Given the description of an element on the screen output the (x, y) to click on. 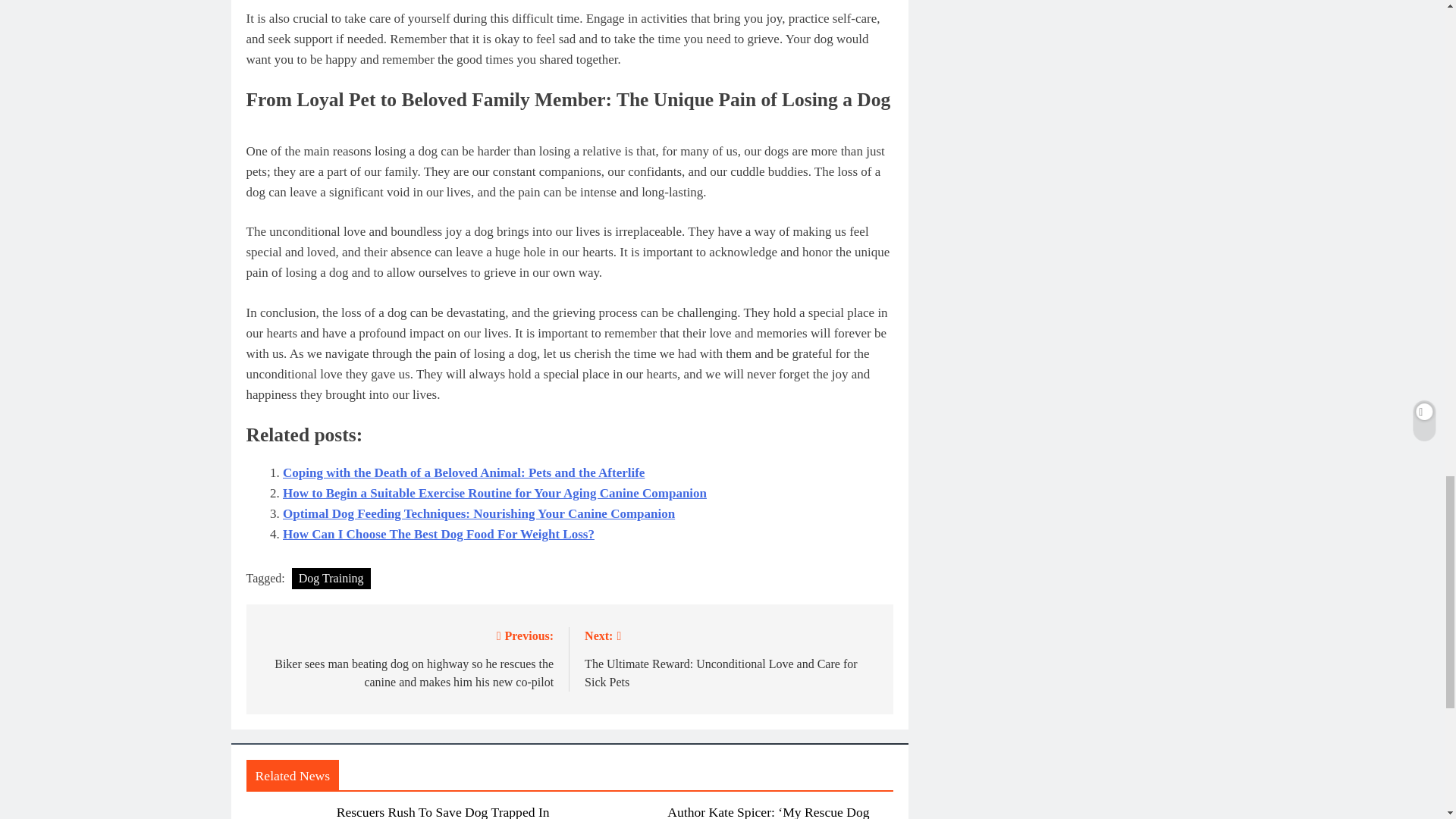
Dog Training (331, 578)
How Can I Choose The Best Dog Food For Weight Loss? (438, 534)
How Can I Choose The Best Dog Food For Weight Loss? (438, 534)
